Given the description of an element on the screen output the (x, y) to click on. 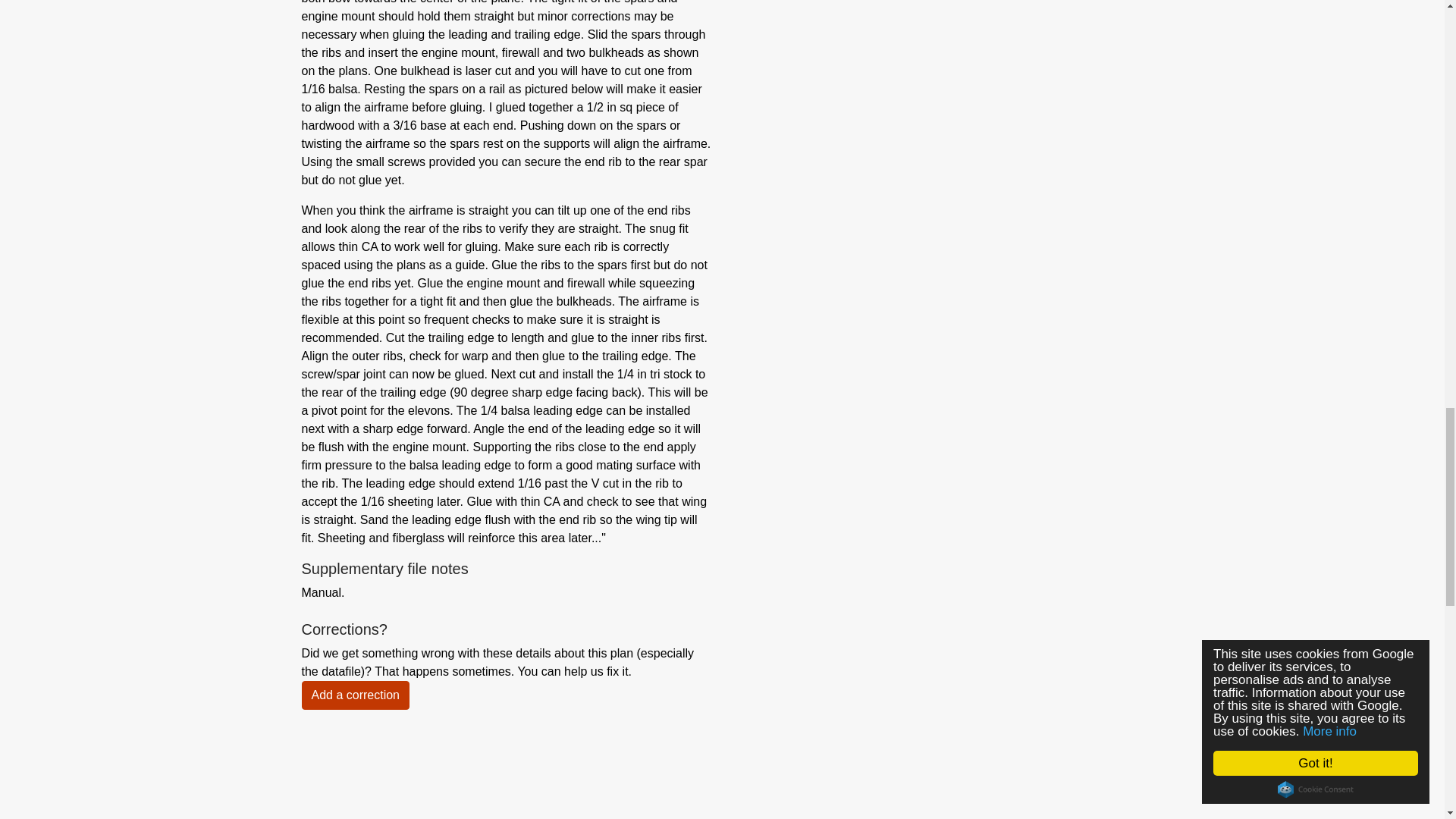
Add a correction (355, 695)
